Given the description of an element on the screen output the (x, y) to click on. 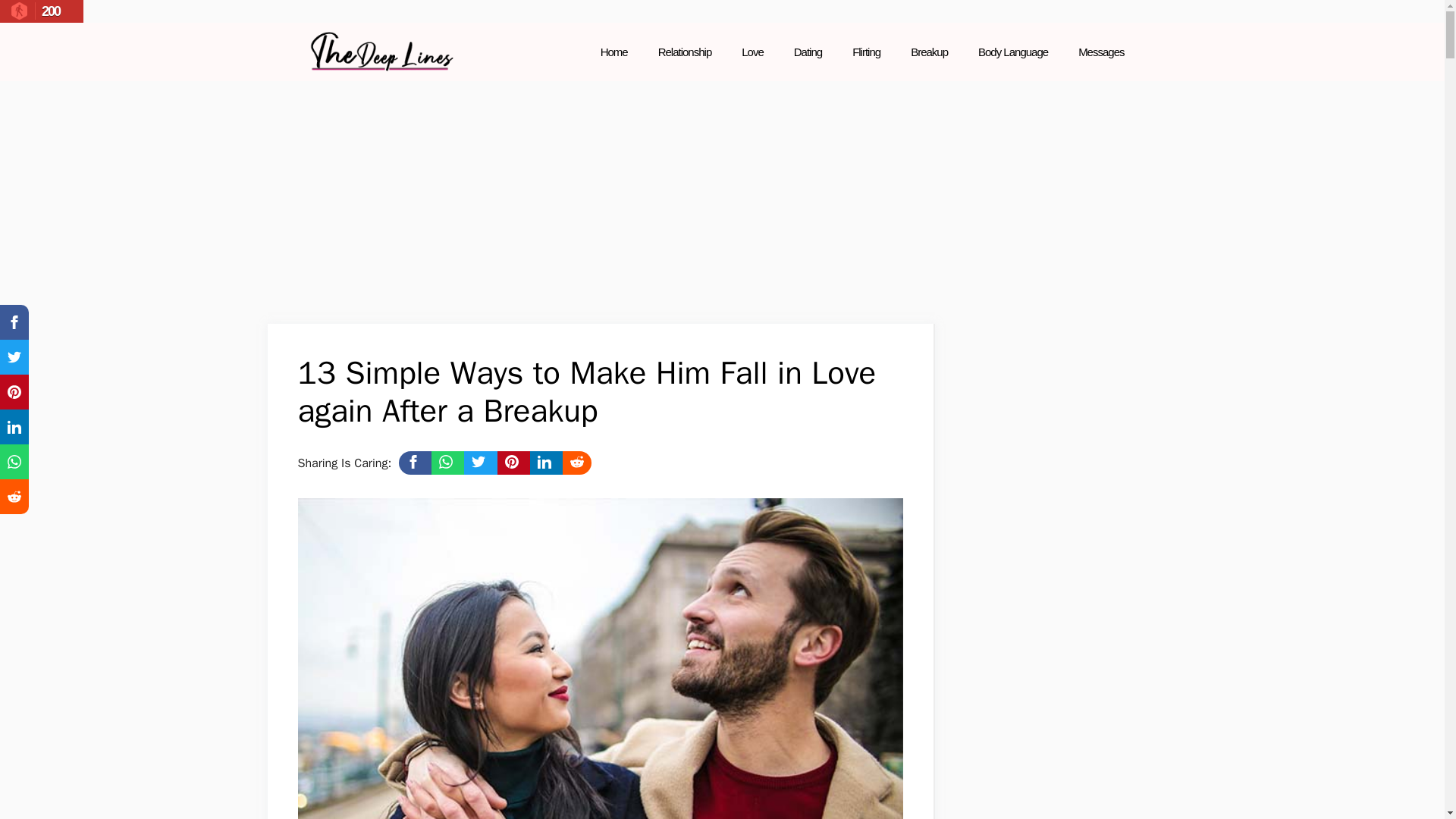
Breakup (928, 51)
Click to see what's popular on this site! (41, 11)
Dating (807, 51)
Love (752, 51)
Messages (1100, 51)
Body Language (1012, 51)
200 (41, 11)
Relationship (684, 51)
Home (614, 51)
Flirting (866, 51)
